Given the description of an element on the screen output the (x, y) to click on. 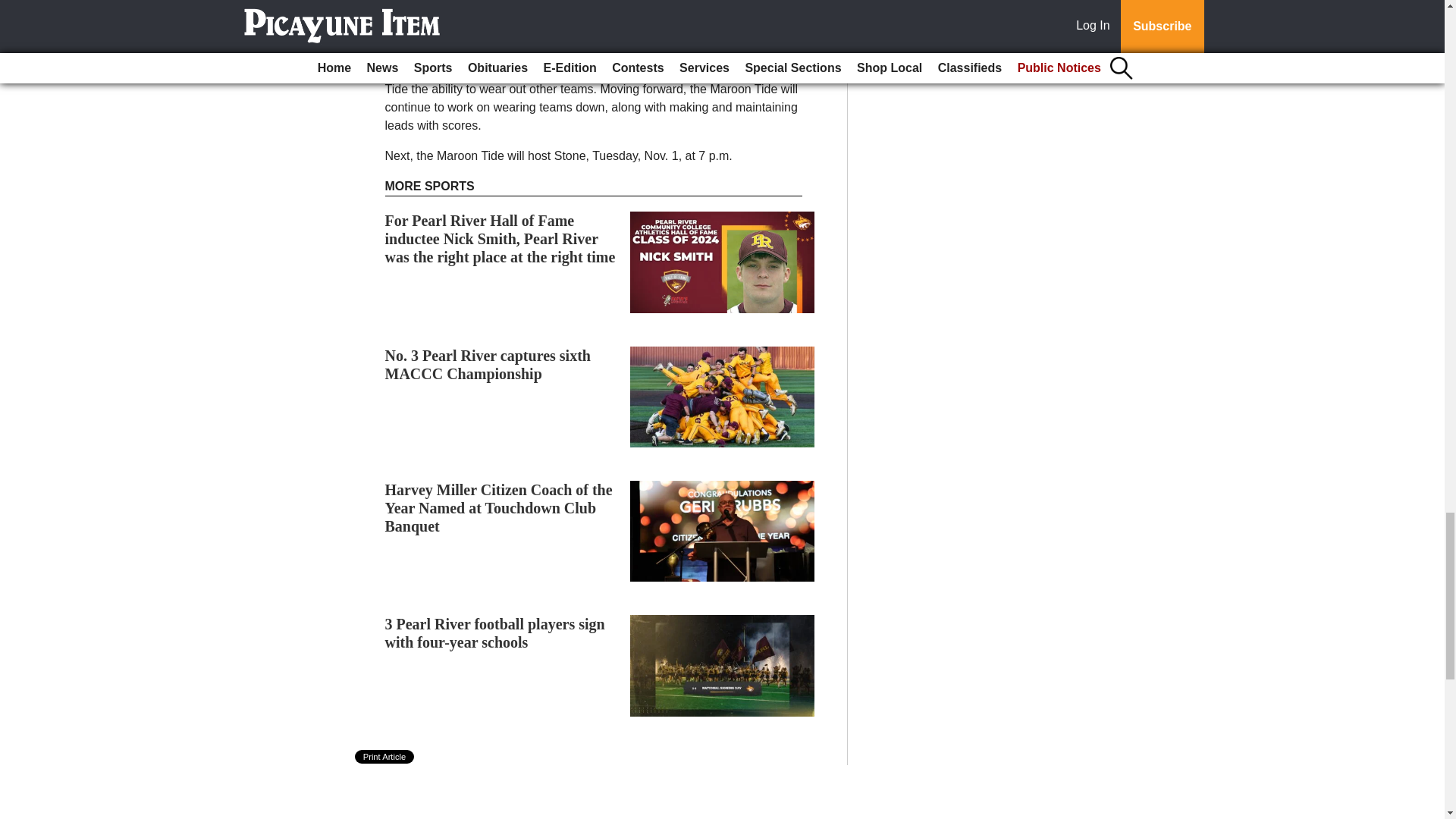
No. 3 Pearl River captures sixth MACCC Championship (488, 364)
3 Pearl River football players sign with four-year schools (495, 632)
3 Pearl River football players sign with four-year schools (495, 632)
Print Article (384, 756)
No. 3 Pearl River captures sixth MACCC Championship (488, 364)
